Given the description of an element on the screen output the (x, y) to click on. 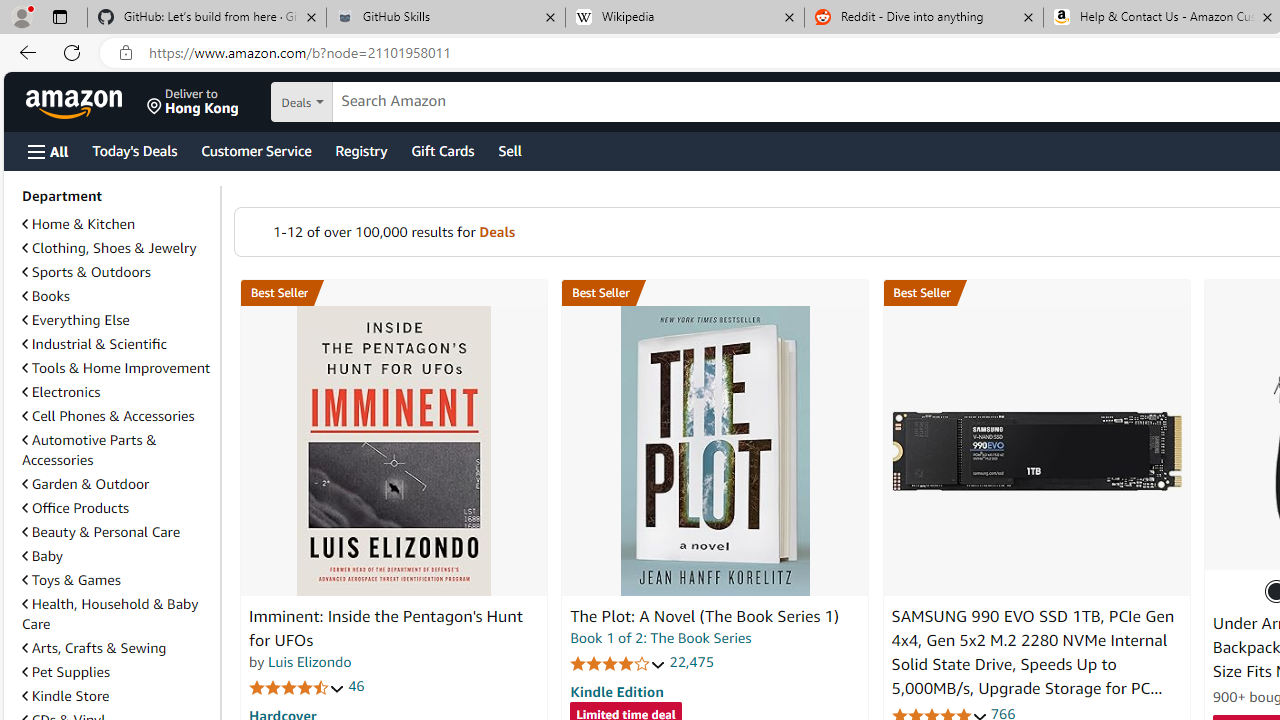
Today's Deals (134, 150)
Office Products (75, 507)
Baby (41, 556)
Deliver to Hong Kong (193, 101)
Luis Elizondo (309, 662)
Best Seller in Unexplained Mysteries (393, 293)
Gift Cards (442, 150)
Everything Else (117, 319)
Kindle Edition (616, 691)
Cell Phones & Accessories (117, 416)
Close tab (1267, 16)
Office Products (117, 507)
Search in (371, 102)
Electronics (117, 391)
Open Menu (48, 151)
